Given the description of an element on the screen output the (x, y) to click on. 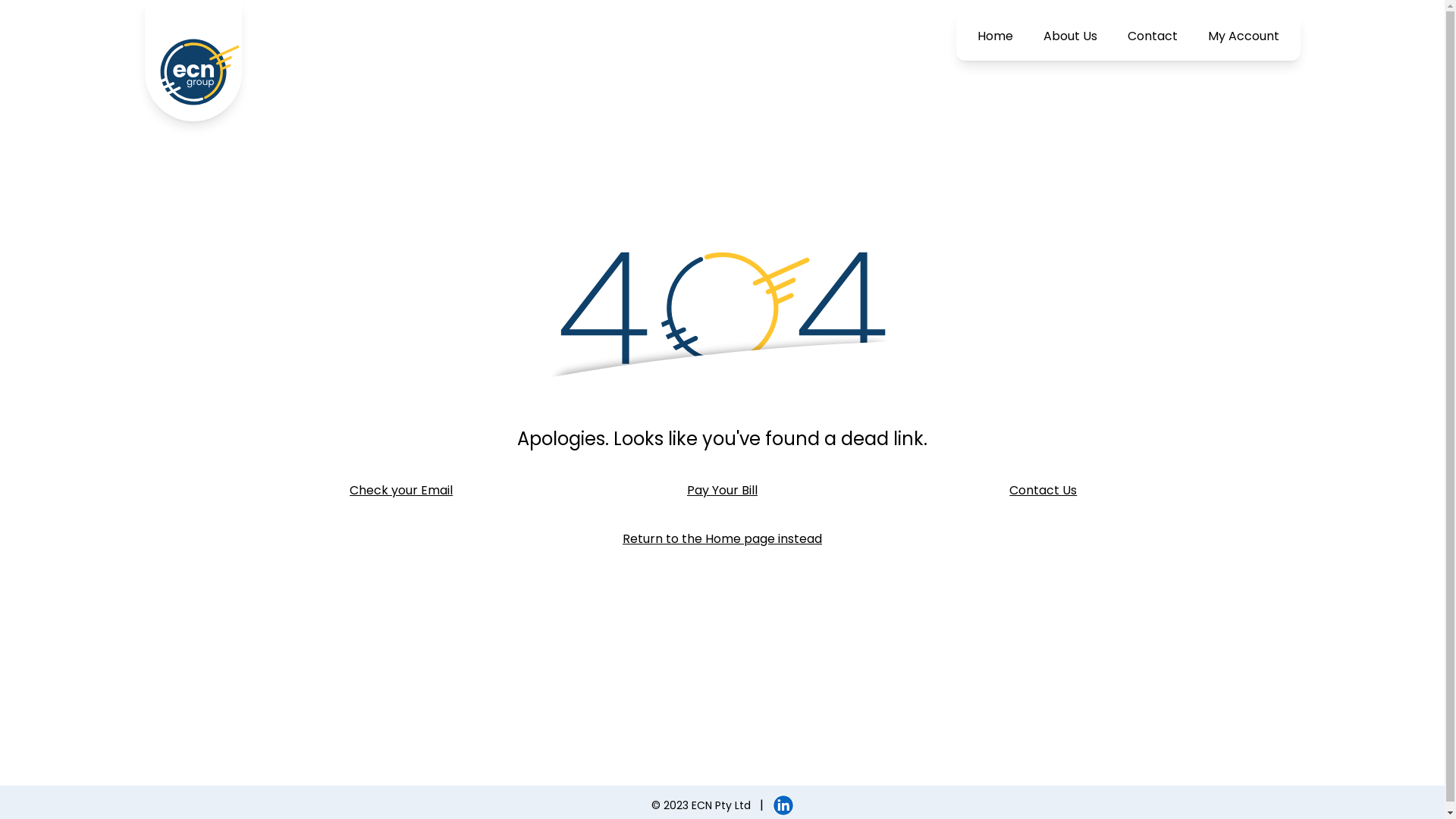
About Us Element type: text (1070, 36)
Home Element type: text (994, 36)
Contact Element type: text (1151, 36)
Contact Us Element type: text (1042, 490)
Return to the Home page instead Element type: text (722, 539)
Pay Your Bill Element type: text (722, 490)
Check your Email Element type: text (401, 490)
